Given the description of an element on the screen output the (x, y) to click on. 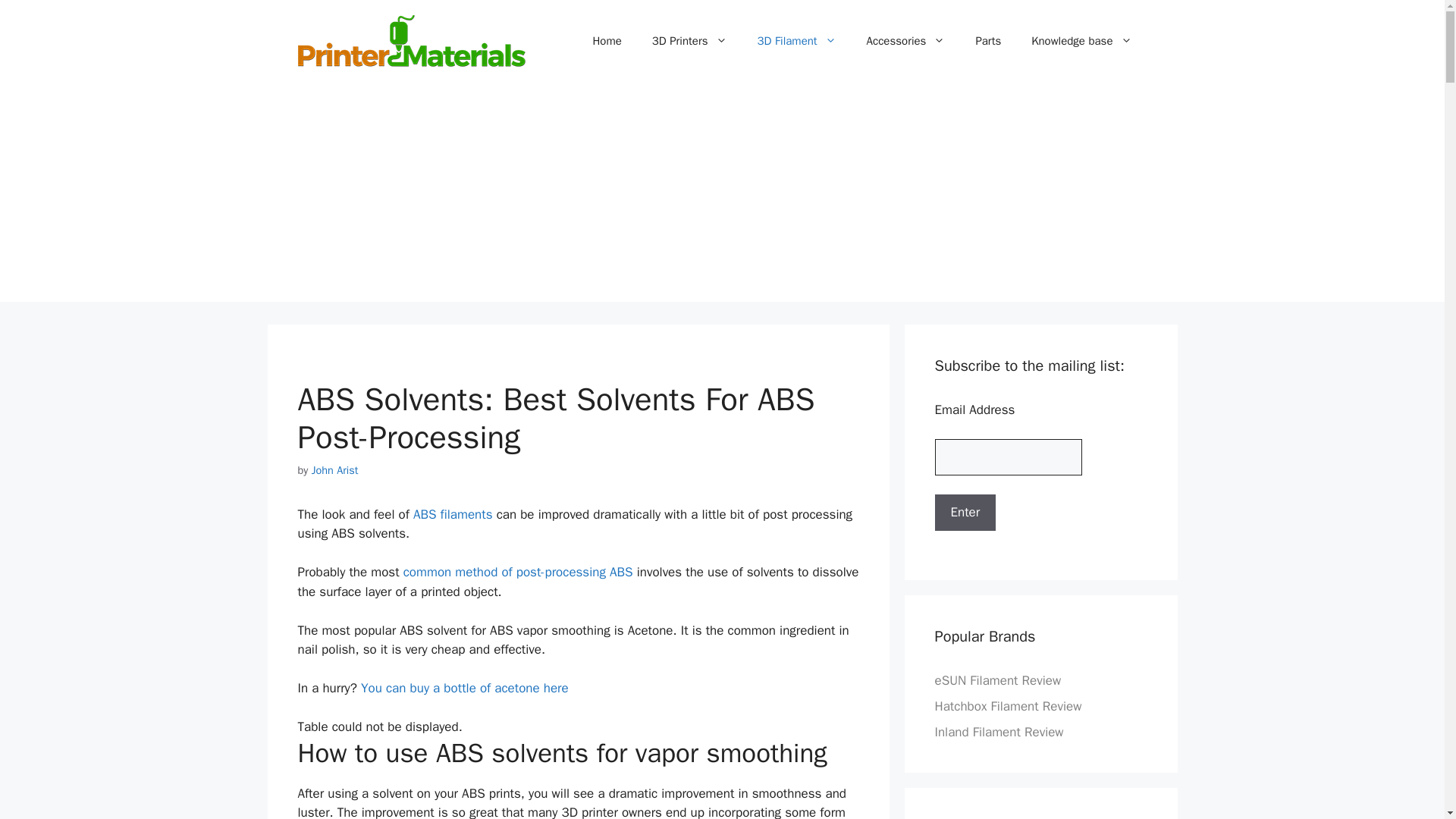
3D Filament (795, 40)
View all posts by John Arist (334, 469)
3D Printers (689, 40)
Home (606, 40)
Parts (987, 40)
Enter (964, 512)
Accessories (905, 40)
